Given the description of an element on the screen output the (x, y) to click on. 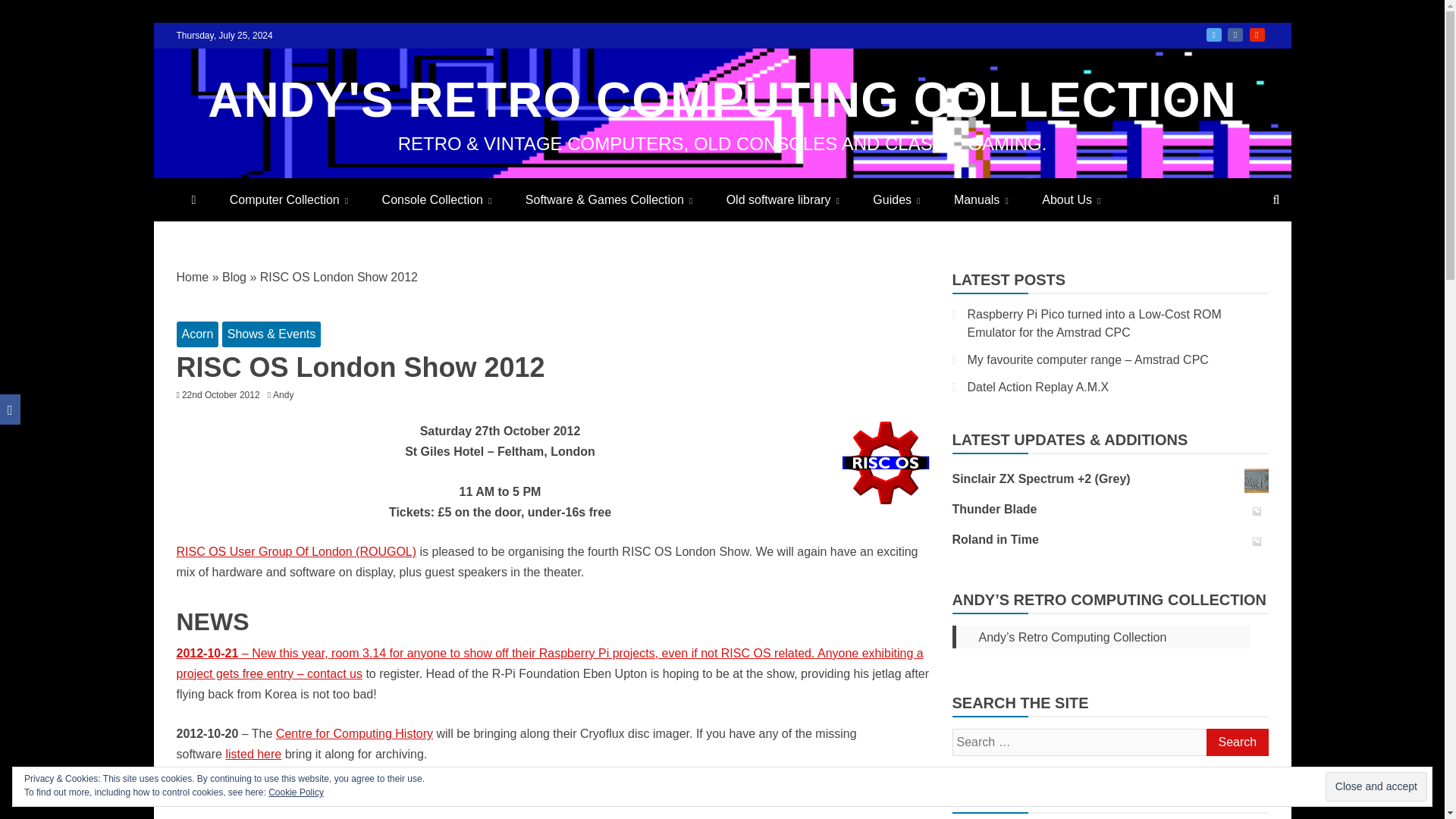
Close and accept (1375, 786)
Computer Collection (288, 199)
Find us on Facebook (1235, 34)
Visit us on Twitter (1214, 34)
Old software library (782, 199)
Search (1236, 741)
YouTube (1257, 34)
ANDY'S RETRO COMPUTING COLLECTION (722, 99)
Search (1236, 741)
Console Collection (436, 199)
